Given the description of an element on the screen output the (x, y) to click on. 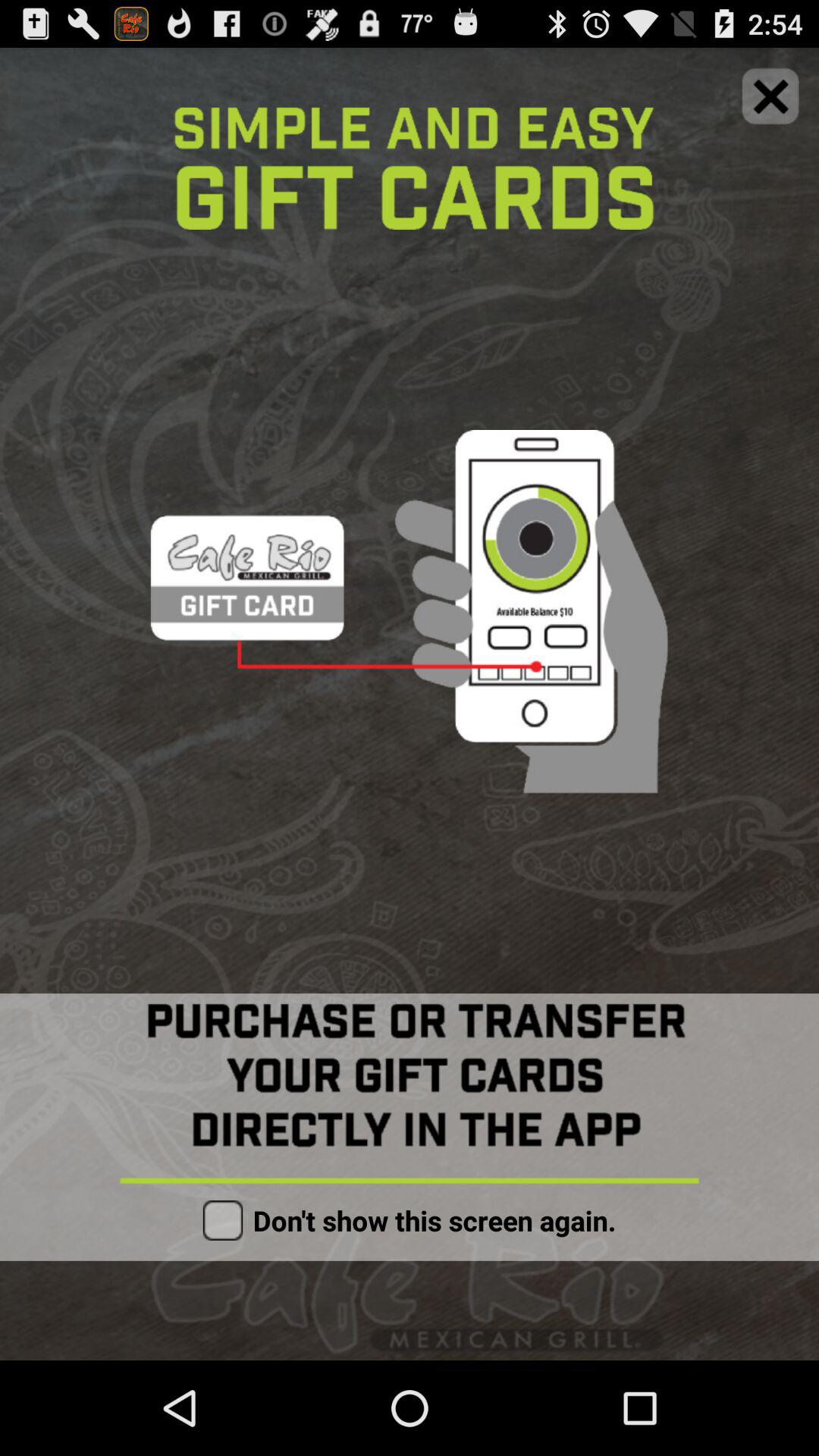
mark box for option (222, 1220)
